Given the description of an element on the screen output the (x, y) to click on. 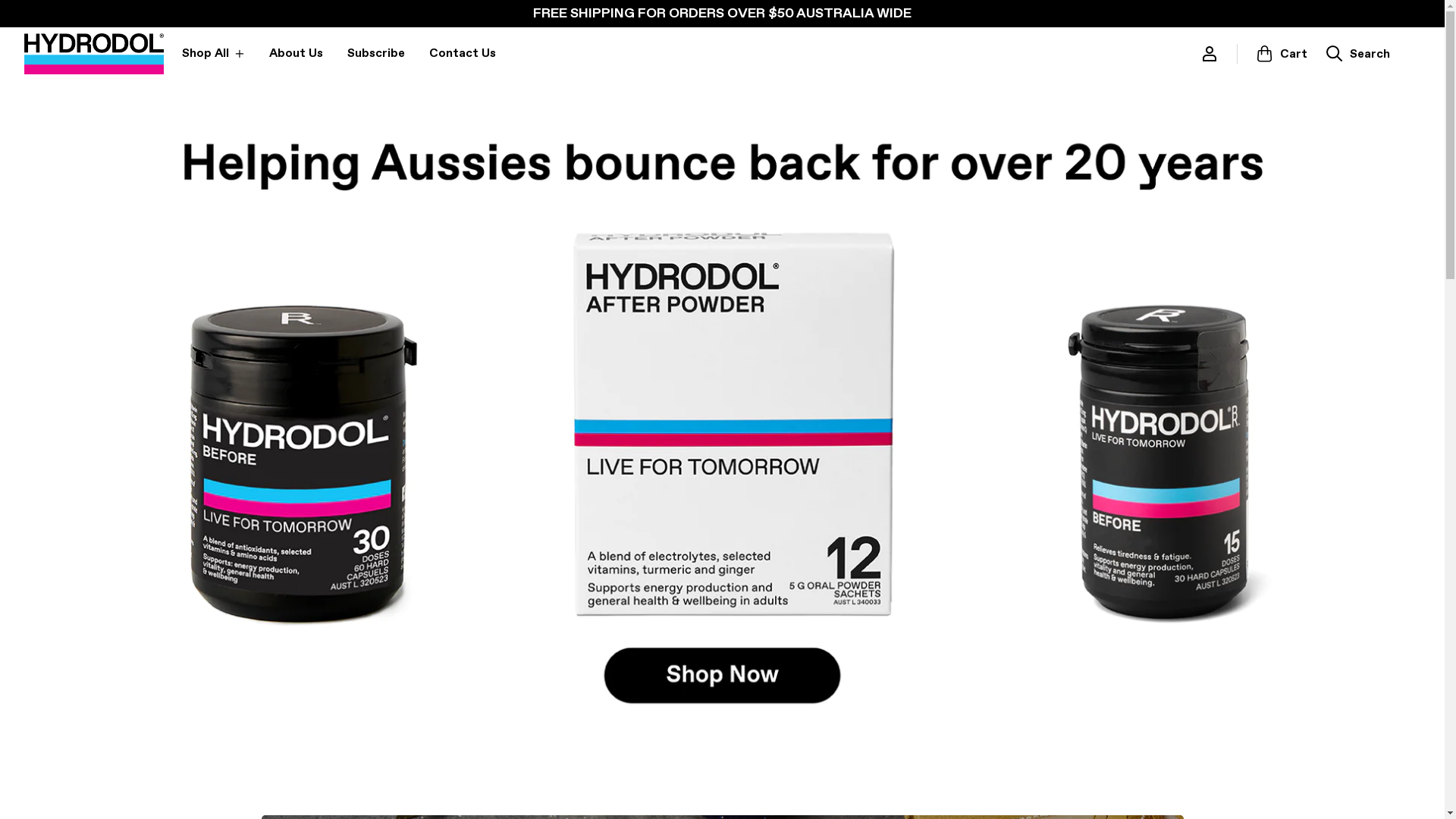
Cart Element type: text (1281, 53)
Subscribe Element type: text (375, 53)
FREE SHIPPING FOR ORDERS OVER $50 AUSTRALIA WIDE Element type: text (722, 13)
Search Element type: text (1357, 53)
Contact Us Element type: text (462, 53)
About Us Element type: text (296, 53)
Shop All Element type: text (213, 53)
